Given the description of an element on the screen output the (x, y) to click on. 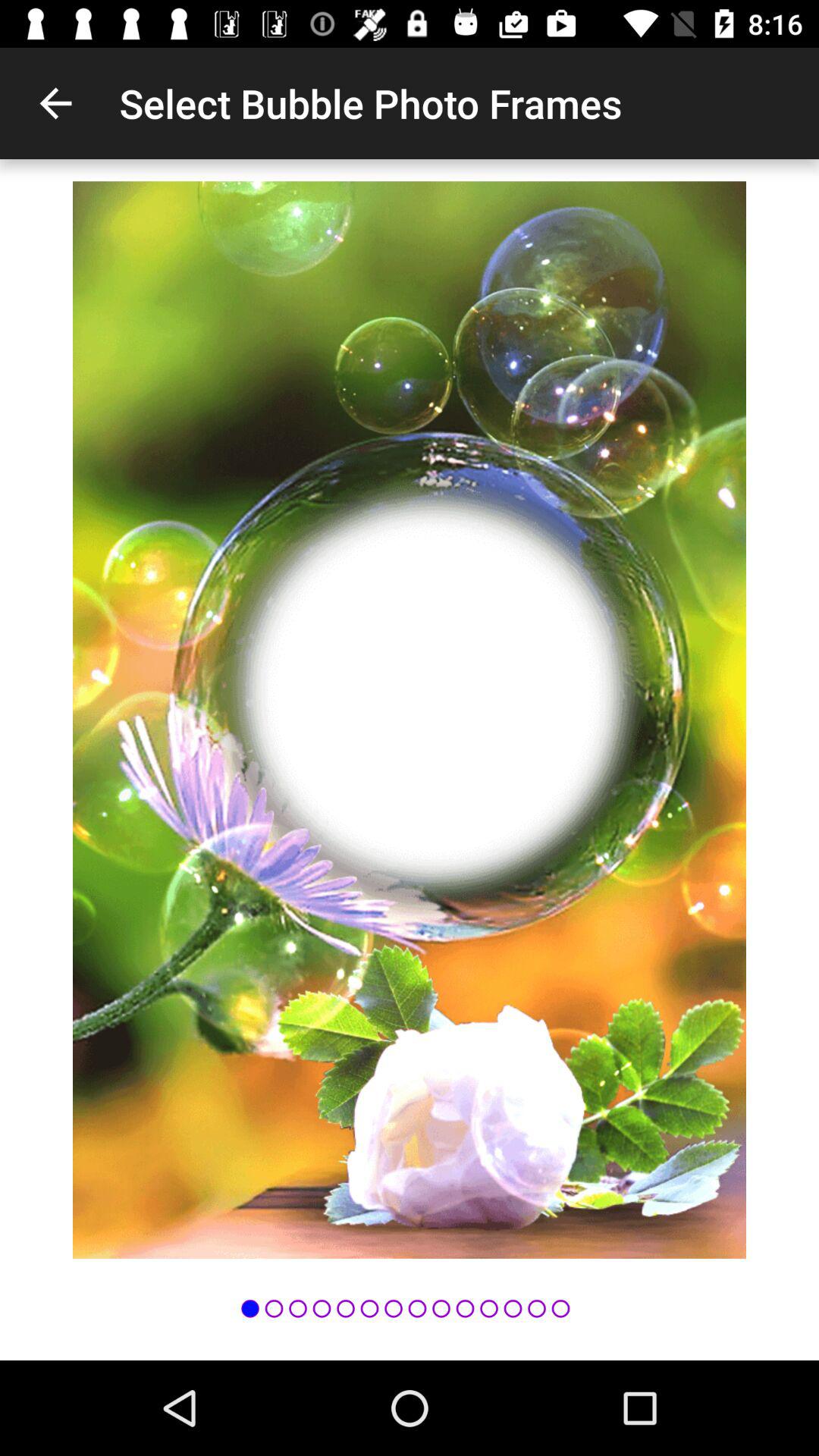
turn off app to the left of select bubble photo item (55, 103)
